Given the description of an element on the screen output the (x, y) to click on. 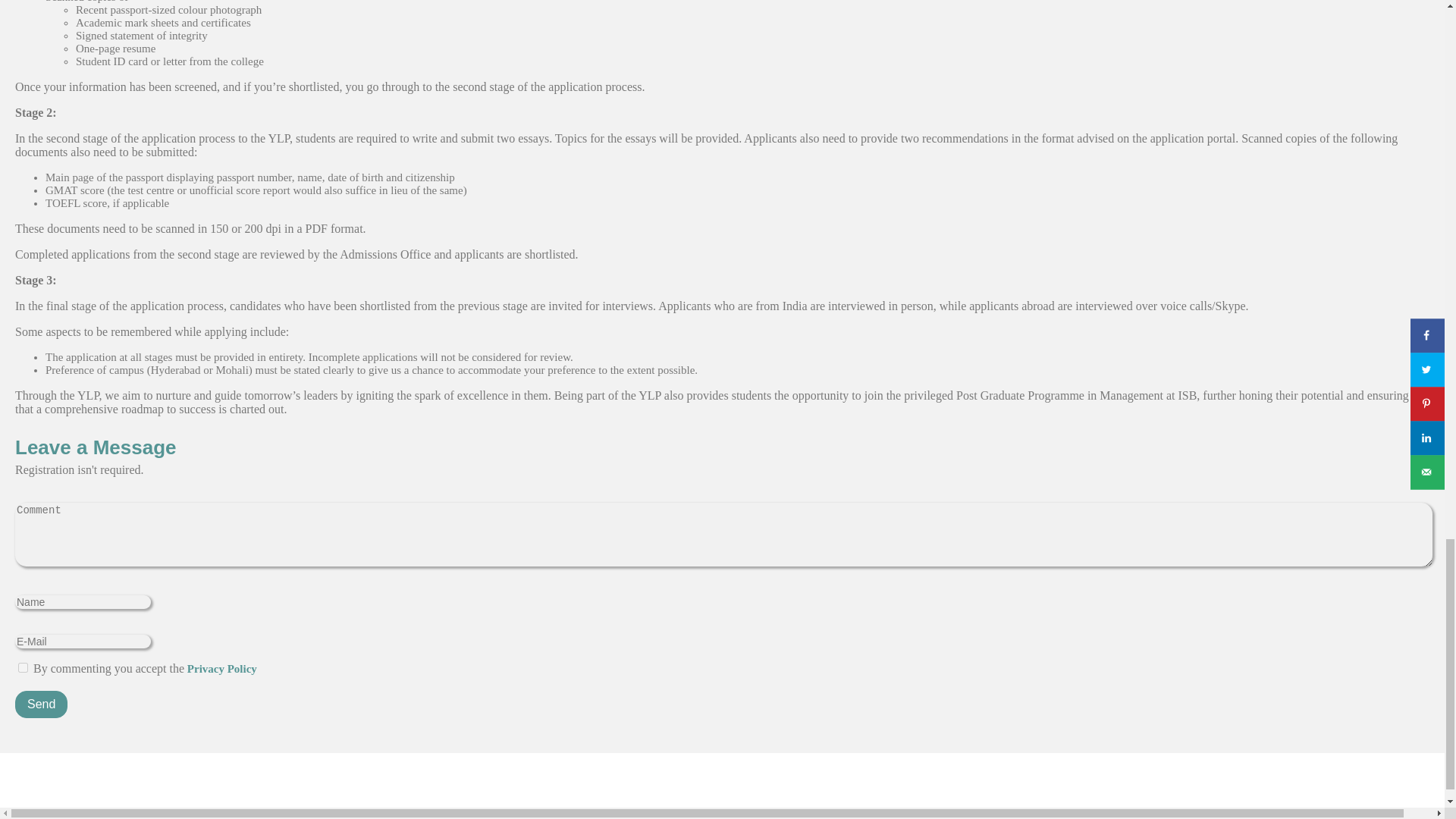
on (22, 667)
Send (40, 704)
